Given the description of an element on the screen output the (x, y) to click on. 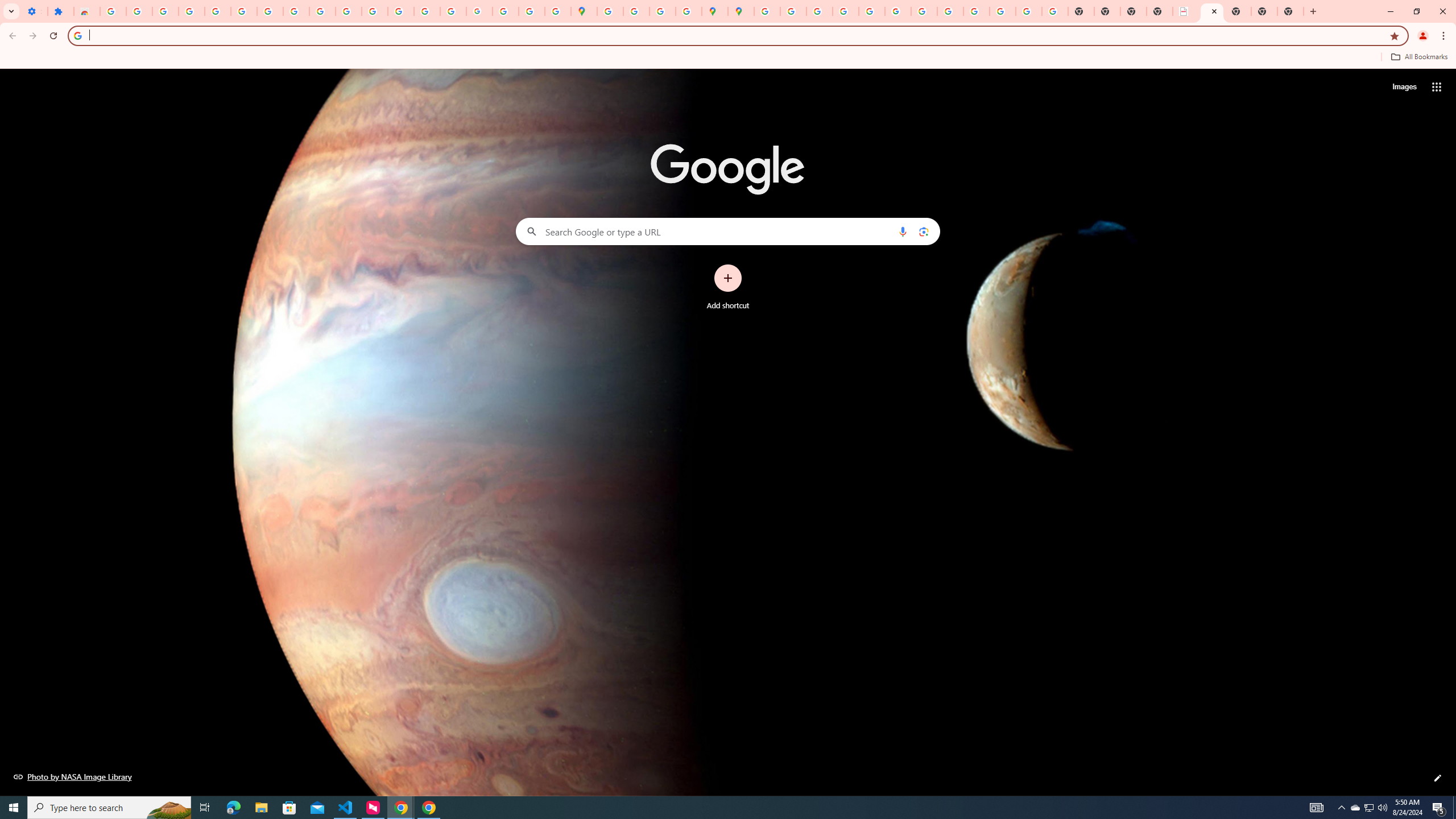
Privacy Help Center - Policies Help (818, 11)
Settings - On startup (34, 11)
YouTube (322, 11)
